Given the description of an element on the screen output the (x, y) to click on. 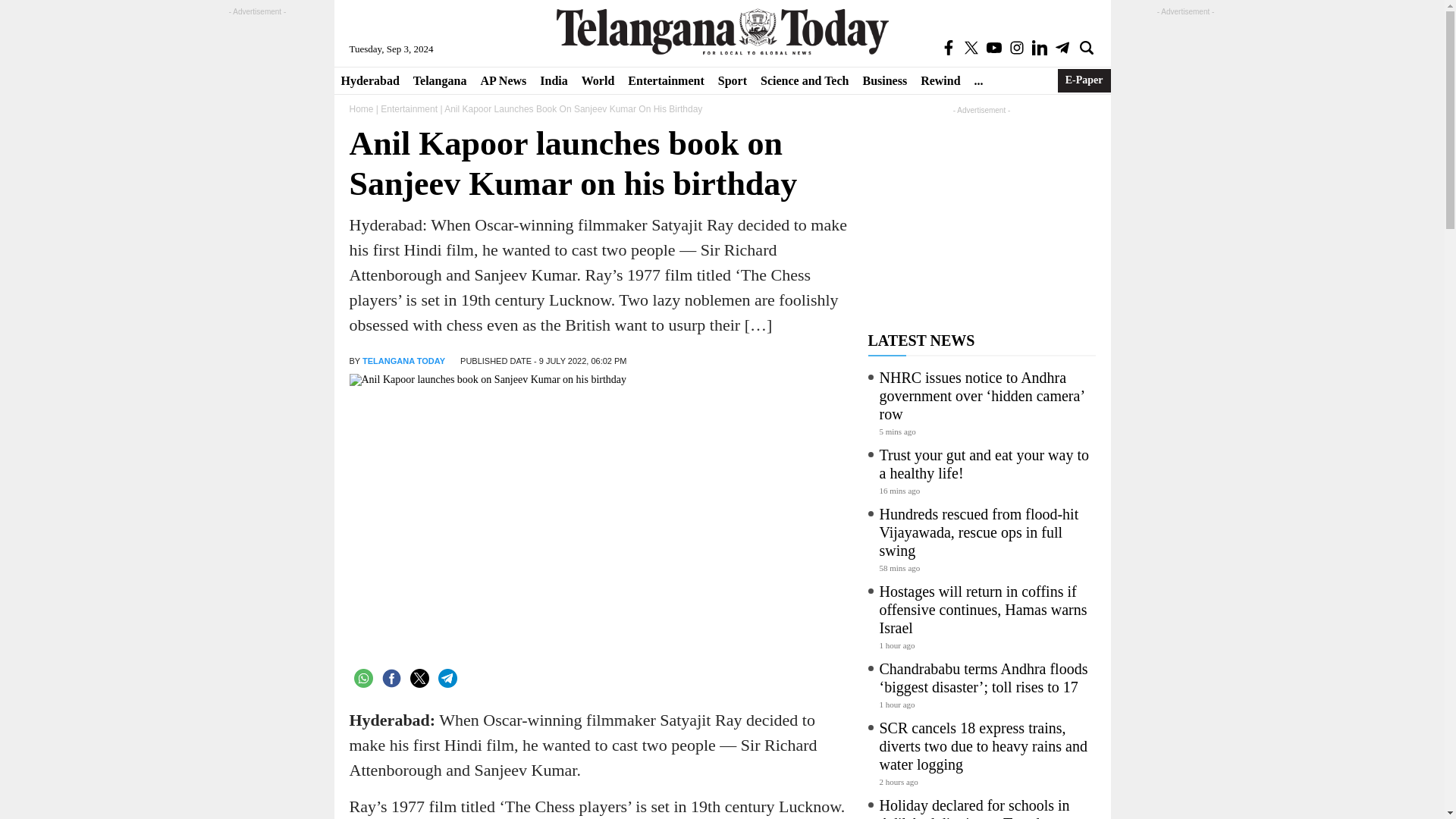
India (552, 80)
Sport (732, 80)
E-Paper (1084, 80)
AP News (502, 80)
Entertainment (665, 80)
Science and Tech (805, 80)
Hyderabad (369, 80)
Home (360, 109)
Rewind (940, 80)
English News (722, 31)
